Given the description of an element on the screen output the (x, y) to click on. 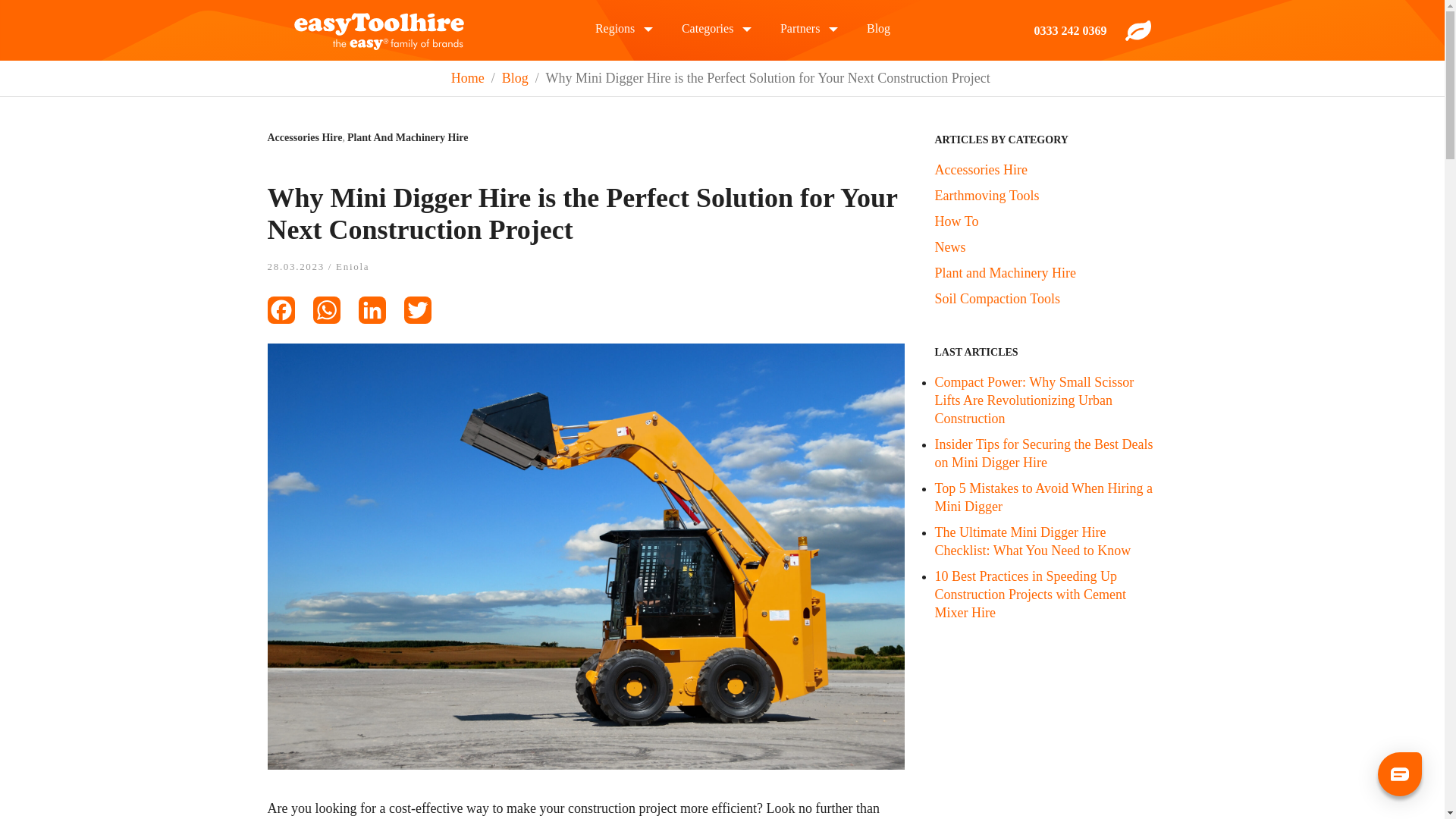
LinkedIn (380, 313)
Carbon Offsetting (1138, 29)
Facebook (289, 313)
WhatsApp (335, 313)
Regions (614, 28)
Categories (707, 28)
Posts by Eniola (352, 266)
